Given the description of an element on the screen output the (x, y) to click on. 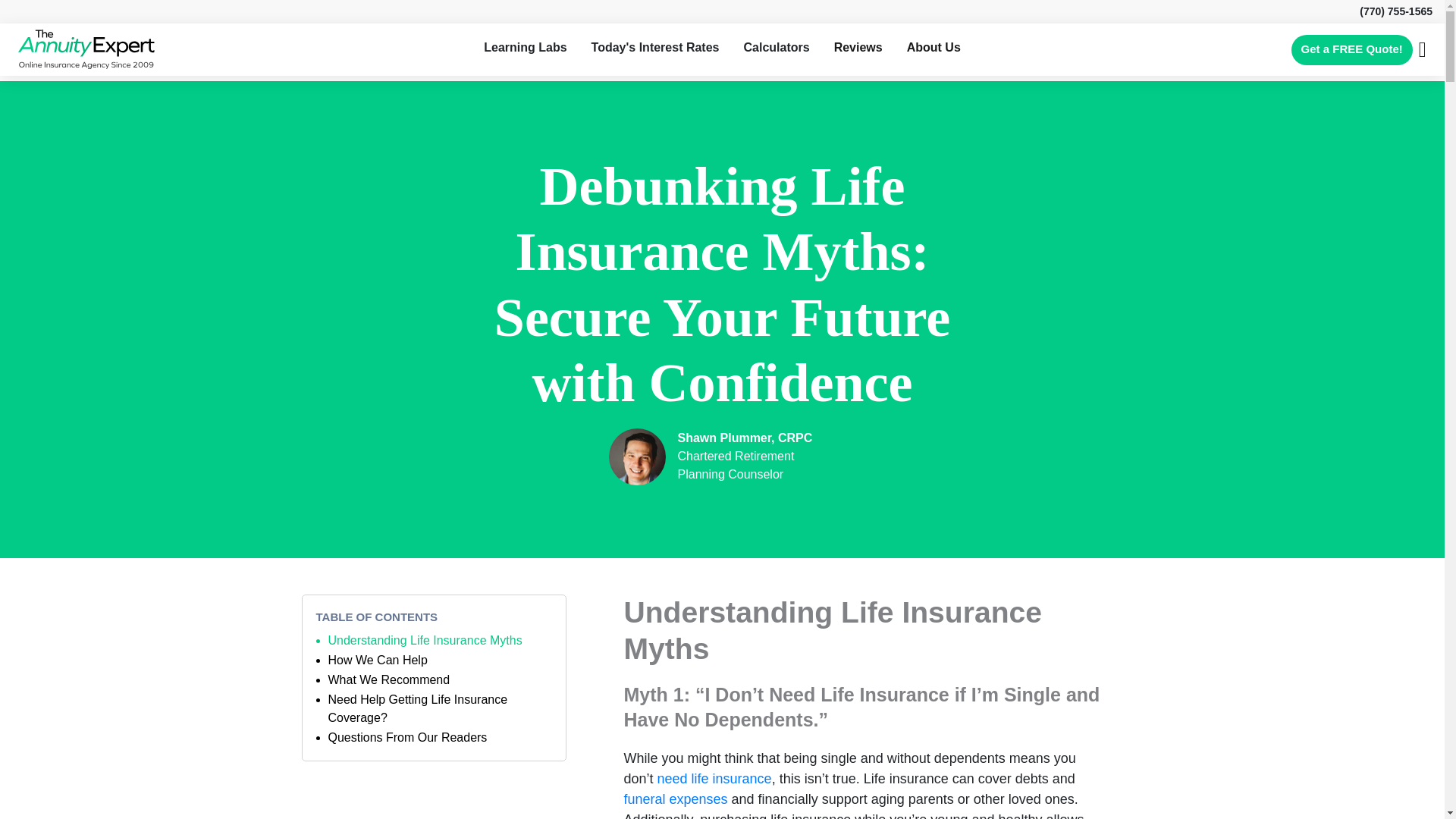
Get a FREE Quote! (1351, 50)
Reviews (858, 47)
About Us (933, 47)
